Given the description of an element on the screen output the (x, y) to click on. 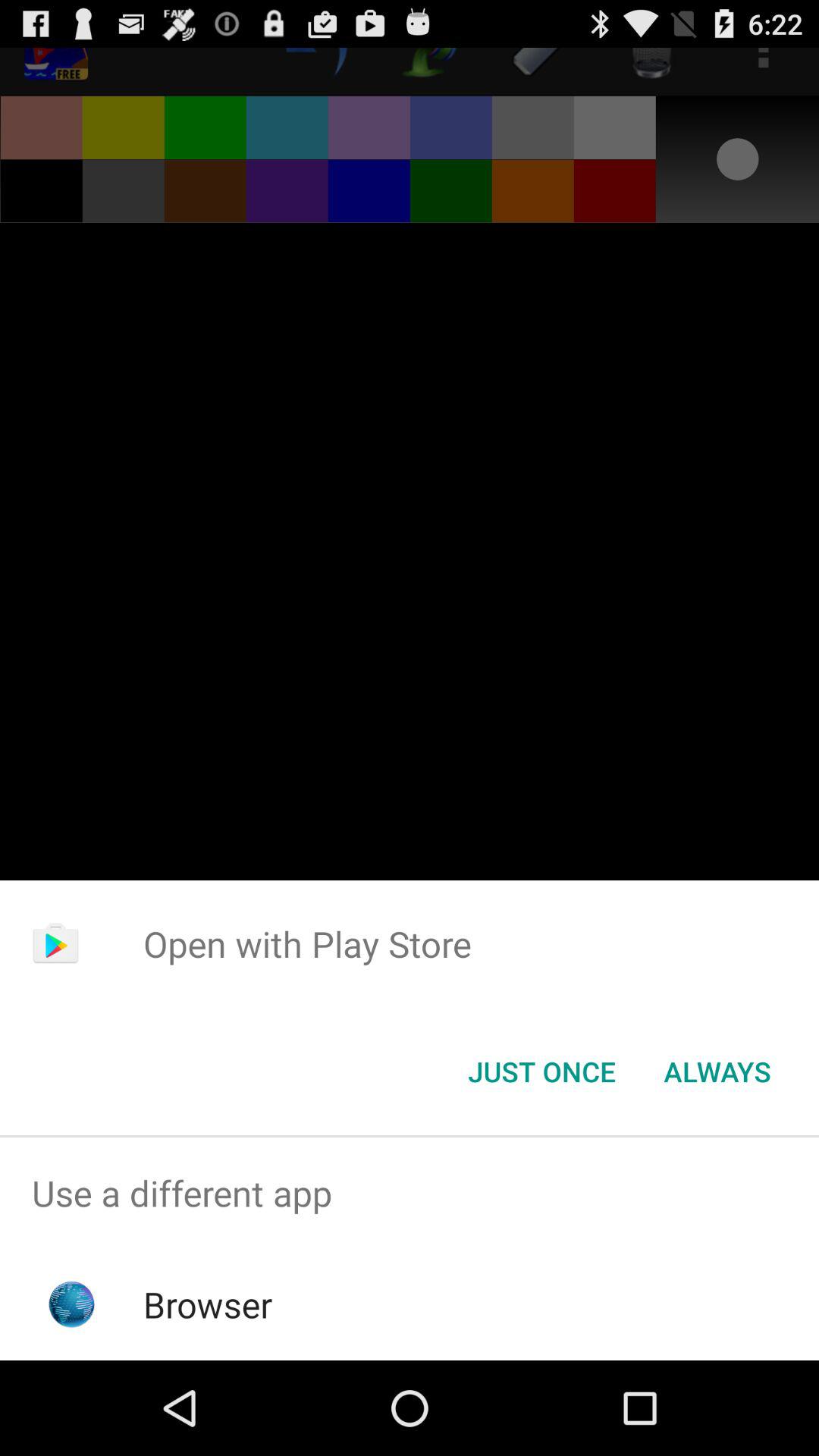
turn off app below use a different item (207, 1304)
